Given the description of an element on the screen output the (x, y) to click on. 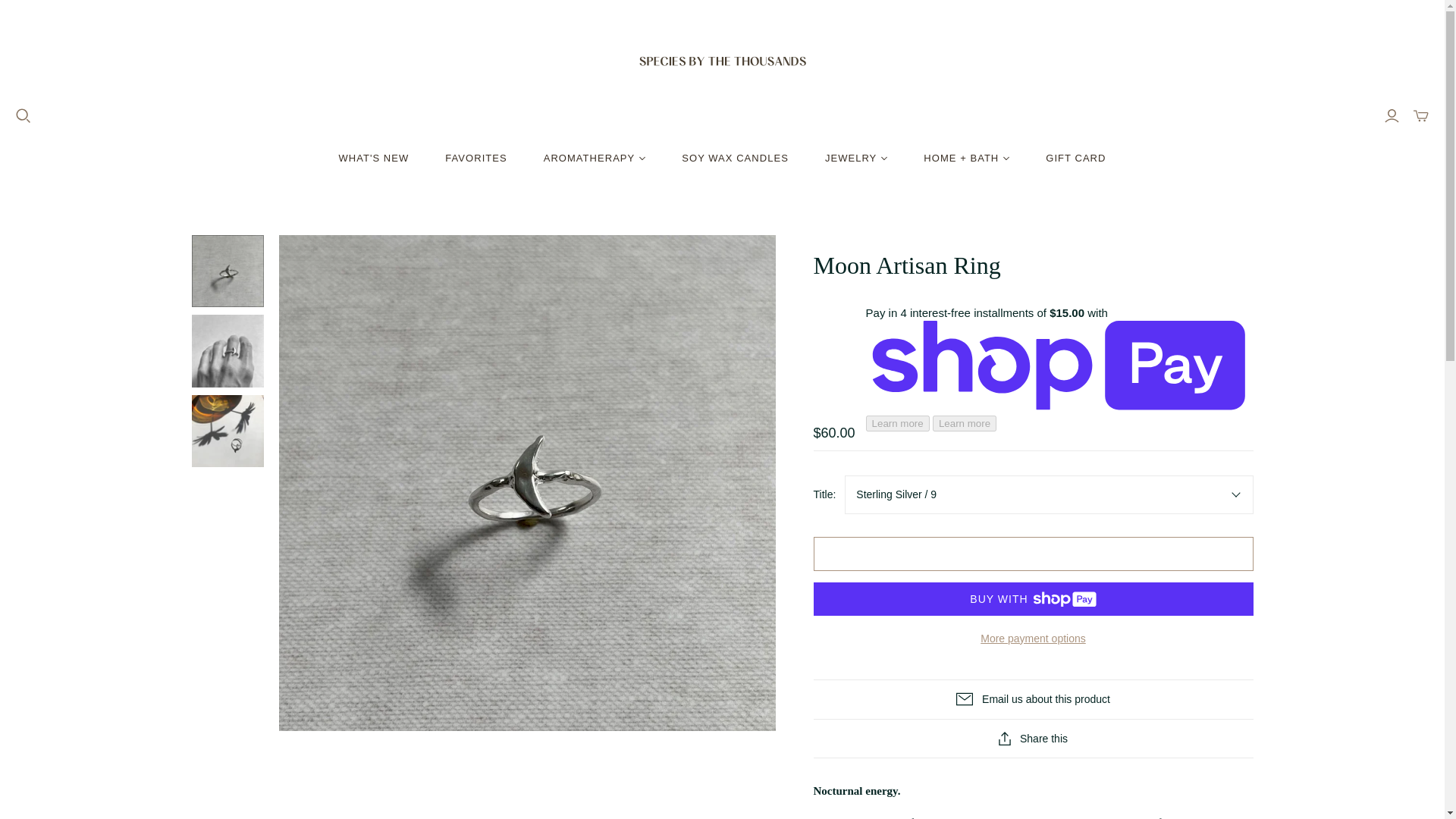
WHAT'S NEW (374, 158)
GIFT CARD (1075, 158)
FAVORITES (475, 158)
SOY WAX CANDLES (734, 158)
